Given the description of an element on the screen output the (x, y) to click on. 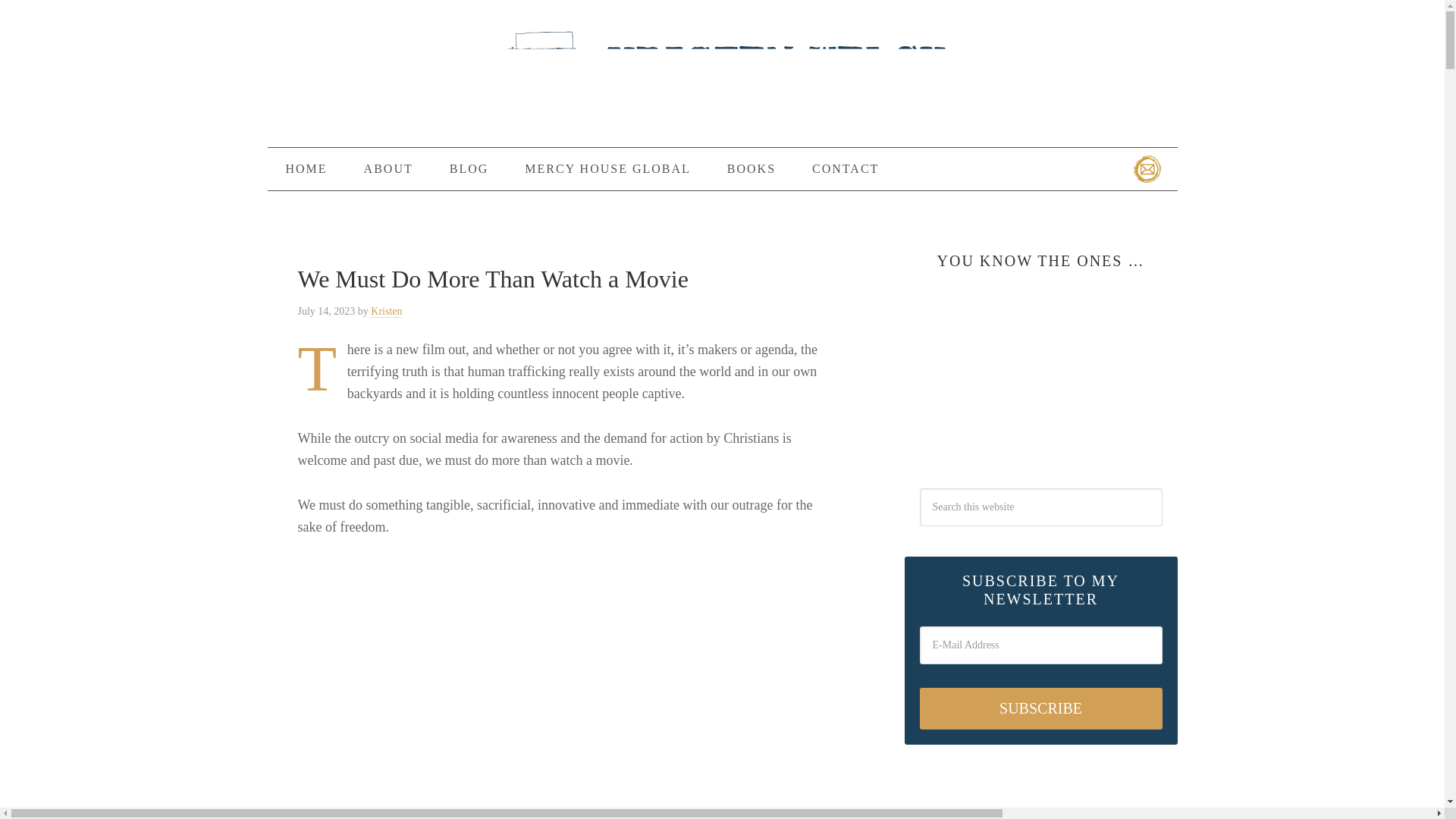
Subscribe (1039, 708)
BLOG (468, 169)
Kristen Welch (722, 76)
ABOUT (388, 169)
HOME (305, 169)
CONTACT (844, 169)
Kristen (386, 311)
BOOKS (751, 169)
MERCY HOUSE GLOBAL (607, 169)
